Given the description of an element on the screen output the (x, y) to click on. 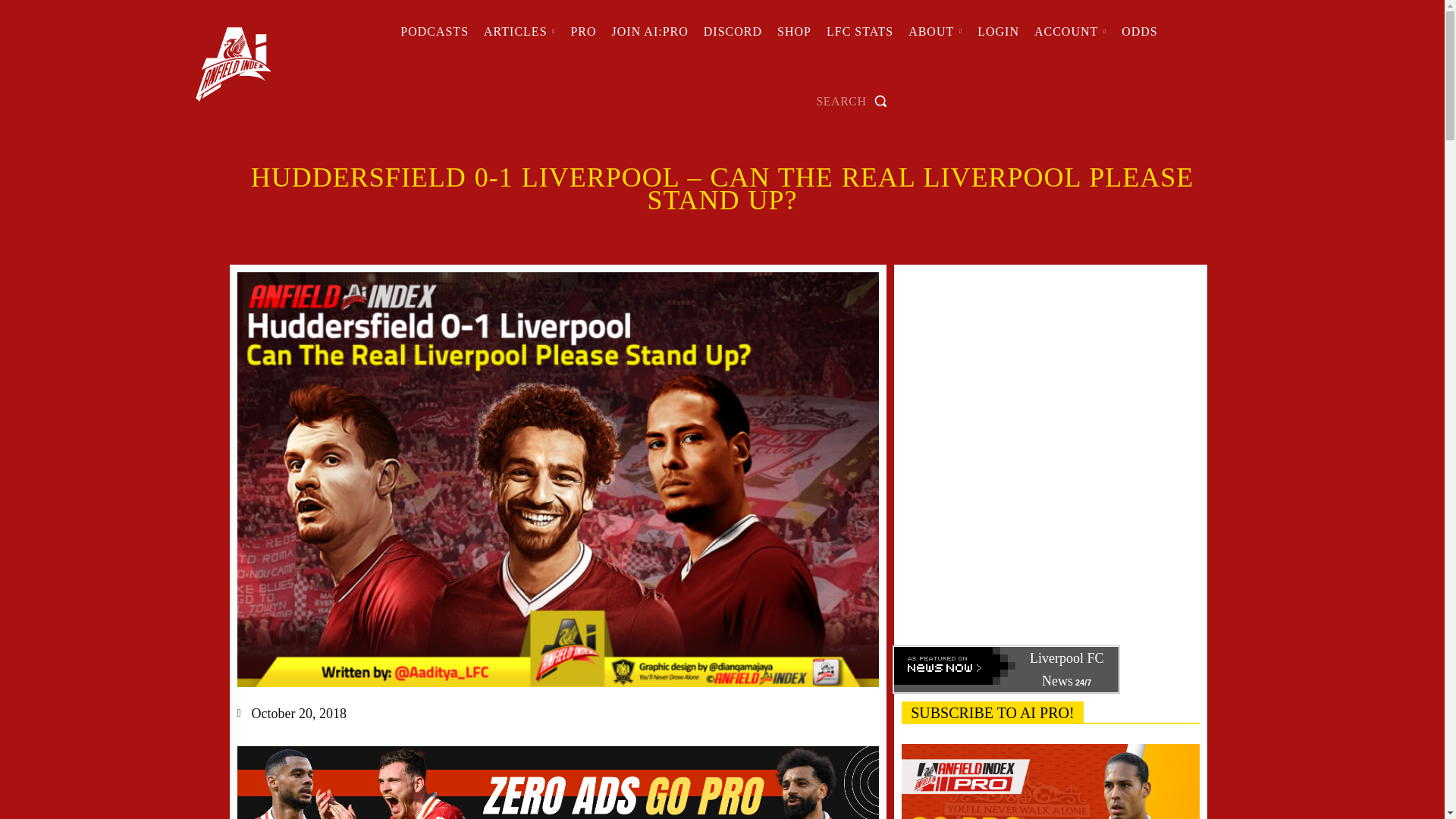
ARTICLES (519, 31)
ABOUT (935, 31)
PRO (583, 31)
Check out Empire Of The Kop! (732, 31)
DISCORD (732, 31)
Click here for more Liverpool FC news from NewsNow (1005, 669)
JOIN AI:PRO (649, 31)
SHOP (794, 31)
LFC STATS (859, 31)
PODCASTS (434, 31)
